Given the description of an element on the screen output the (x, y) to click on. 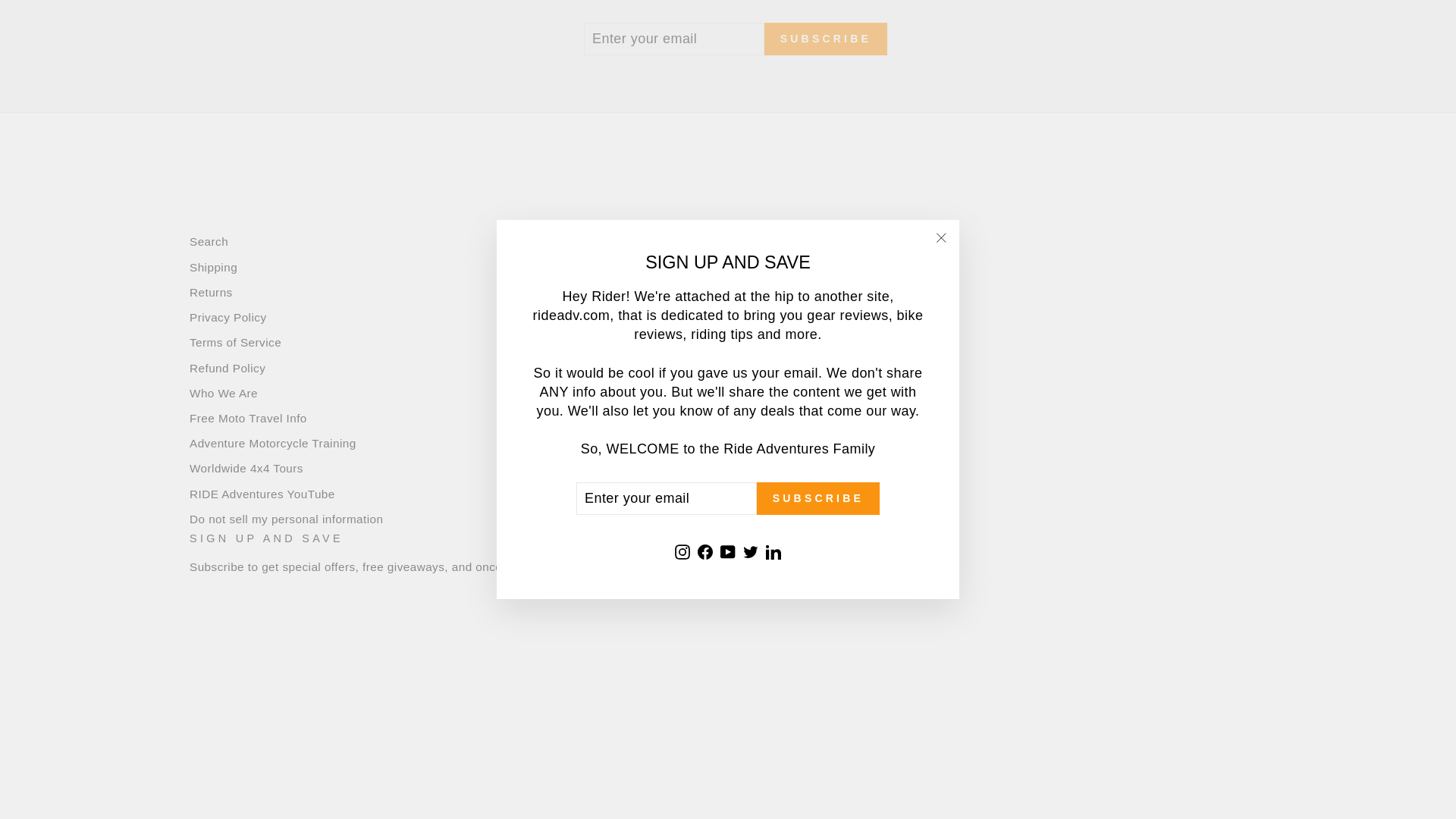
shop.rideadv.com on Instagram (198, 651)
